Given the description of an element on the screen output the (x, y) to click on. 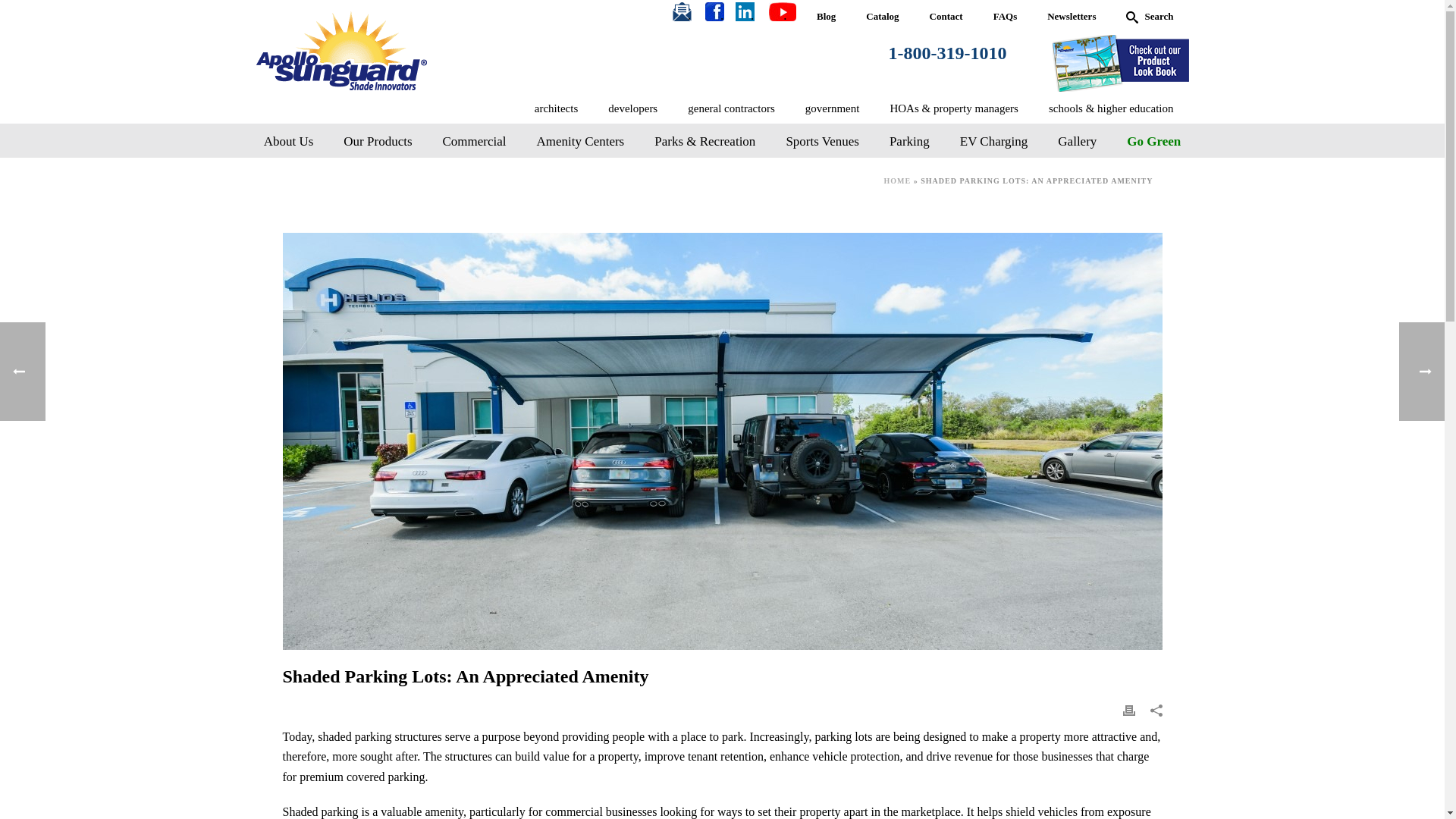
Blog (826, 16)
Newsletters (1071, 16)
Amenity Centers (580, 142)
Catalog (882, 16)
Go Green (1153, 142)
Search (1149, 16)
general contractors (731, 108)
1-800-319-1010 (947, 53)
About Us (288, 142)
. (751, 16)
About Us (288, 142)
. (751, 16)
. (688, 16)
Our Products (377, 142)
